Given the description of an element on the screen output the (x, y) to click on. 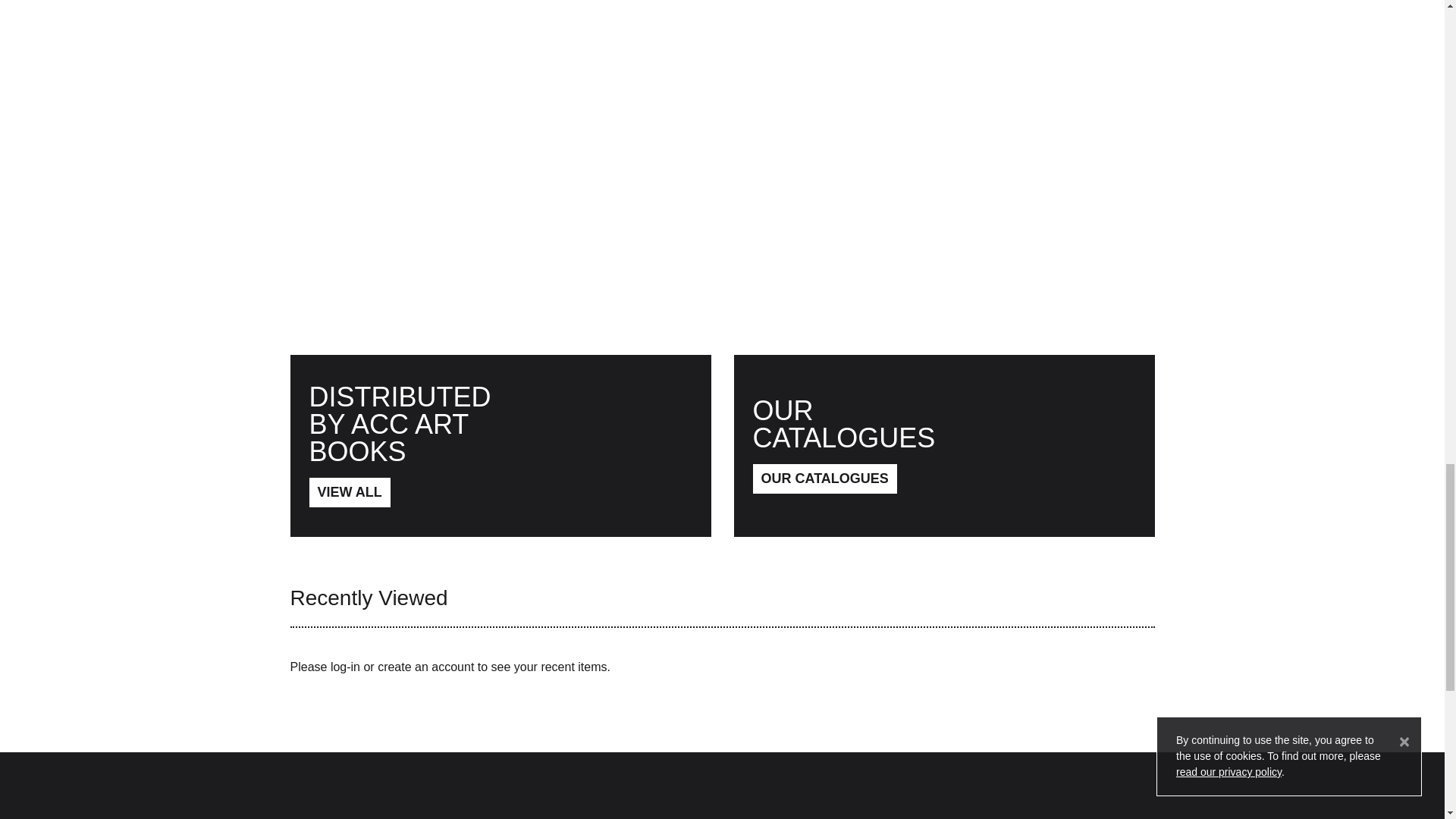
Look Inside: Where the Wildness Pleases (499, 106)
